Given the description of an element on the screen output the (x, y) to click on. 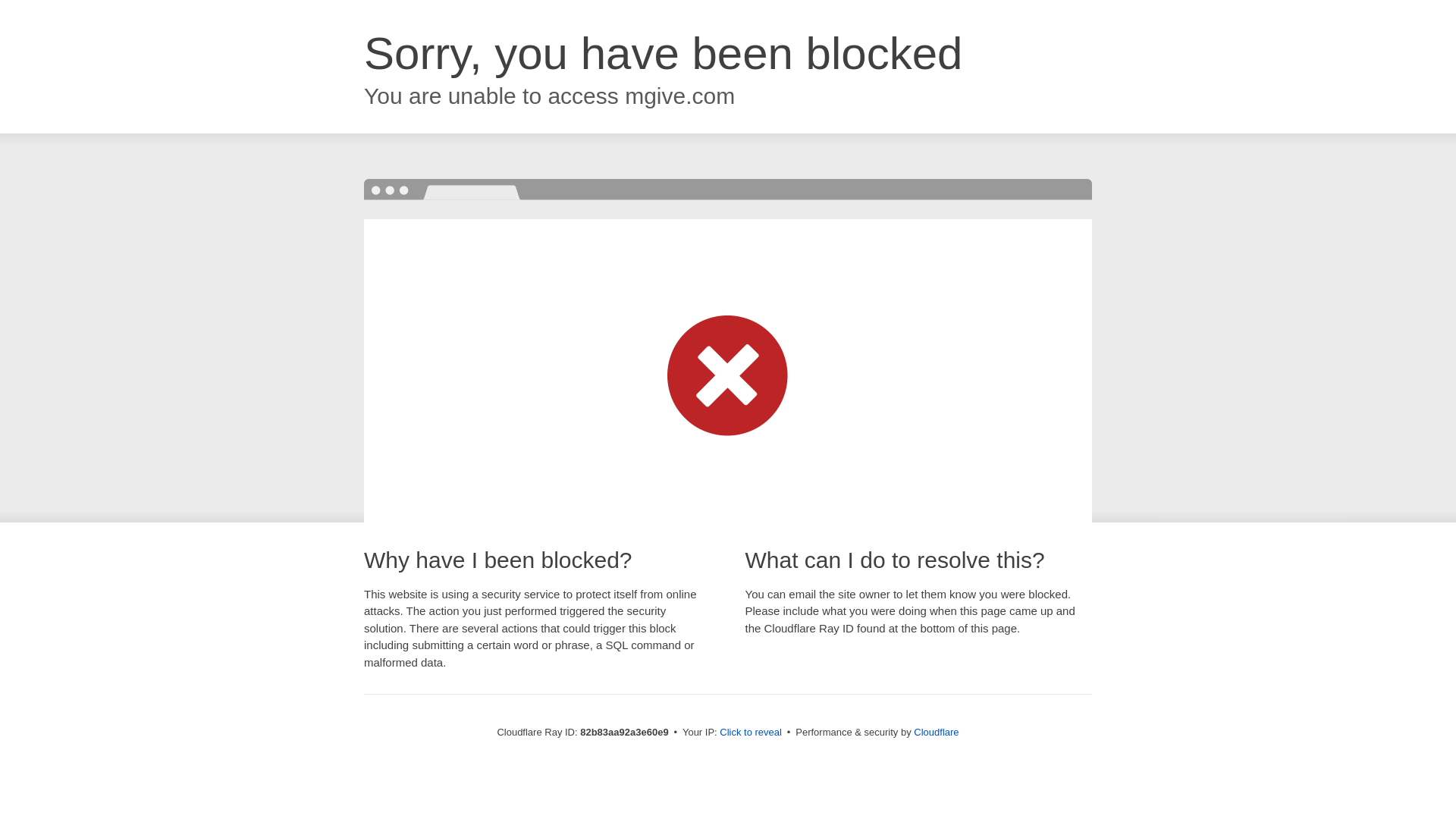
Cloudflare Element type: text (935, 731)
Click to reveal Element type: text (750, 732)
